Given the description of an element on the screen output the (x, y) to click on. 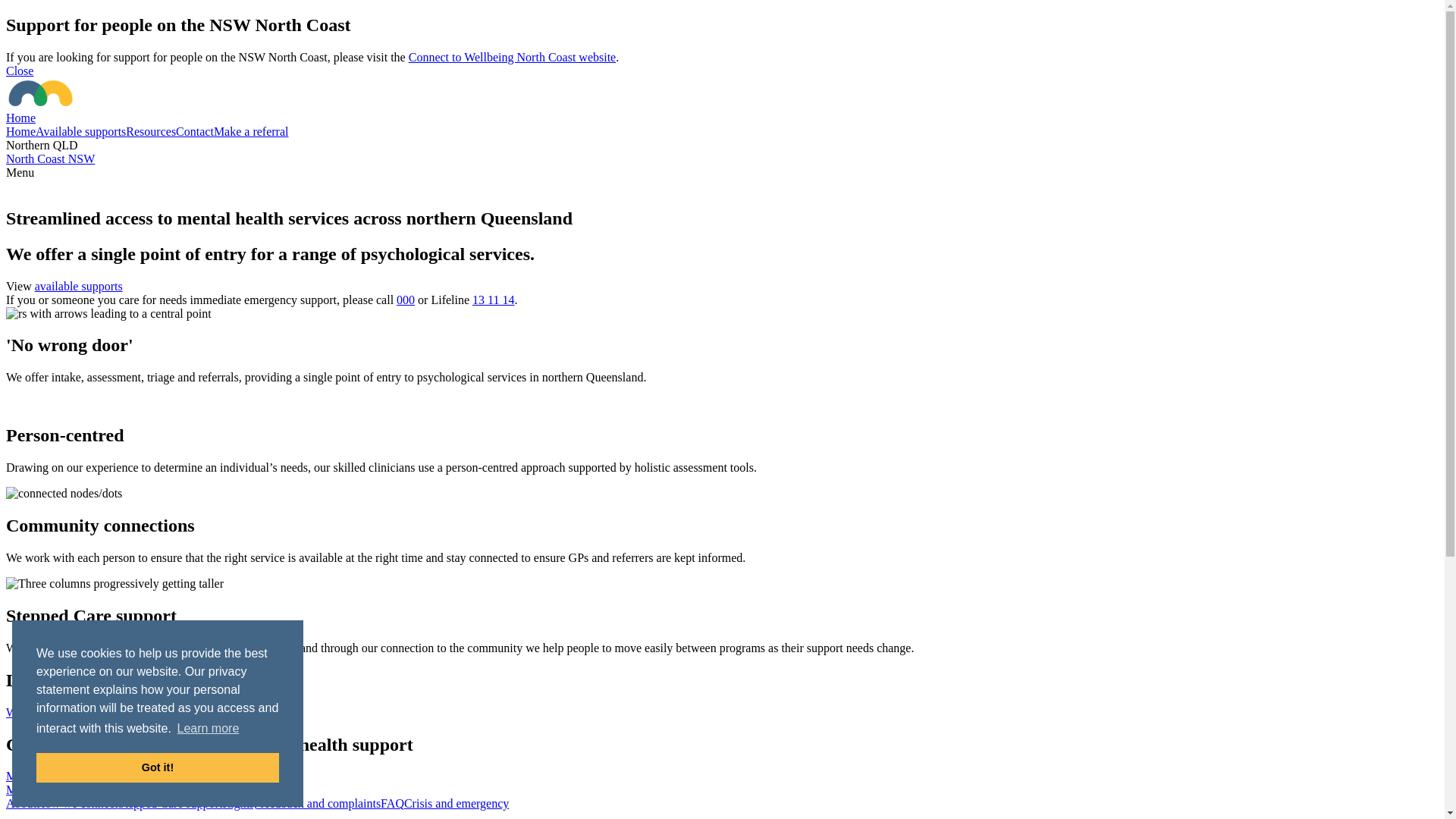
Connect to Wellbeing North Coast website Element type: text (511, 56)
About Element type: text (21, 803)
Available supports Element type: text (80, 131)
FAQ Element type: text (392, 803)
Rights, feedback and complaints Element type: text (301, 803)
Crisis and emergency Element type: text (456, 803)
How we connect Element type: text (77, 803)
Home Element type: text (95, 789)
13 11 14 Element type: text (493, 299)
Home Element type: text (722, 111)
Go to the Home page Element type: hover (40, 93)
Got it! Element type: text (157, 767)
Stepped Care support Element type: text (170, 803)
Resources Element type: text (225, 789)
Make a referral Element type: text (43, 775)
North Coast NSW Element type: text (50, 158)
000 Element type: text (405, 299)
Contact us Element type: text (276, 789)
Make a referral Element type: text (43, 789)
available supports Element type: text (78, 285)
Available supports Element type: text (155, 789)
Learn more Element type: text (207, 728)
Contact Element type: text (194, 131)
Home Element type: text (20, 131)
Watch the Connect to Wellbeing video Element type: text (722, 712)
Make a referral Element type: text (250, 131)
Resources Element type: text (150, 131)
Close Element type: text (19, 70)
